Given the description of an element on the screen output the (x, y) to click on. 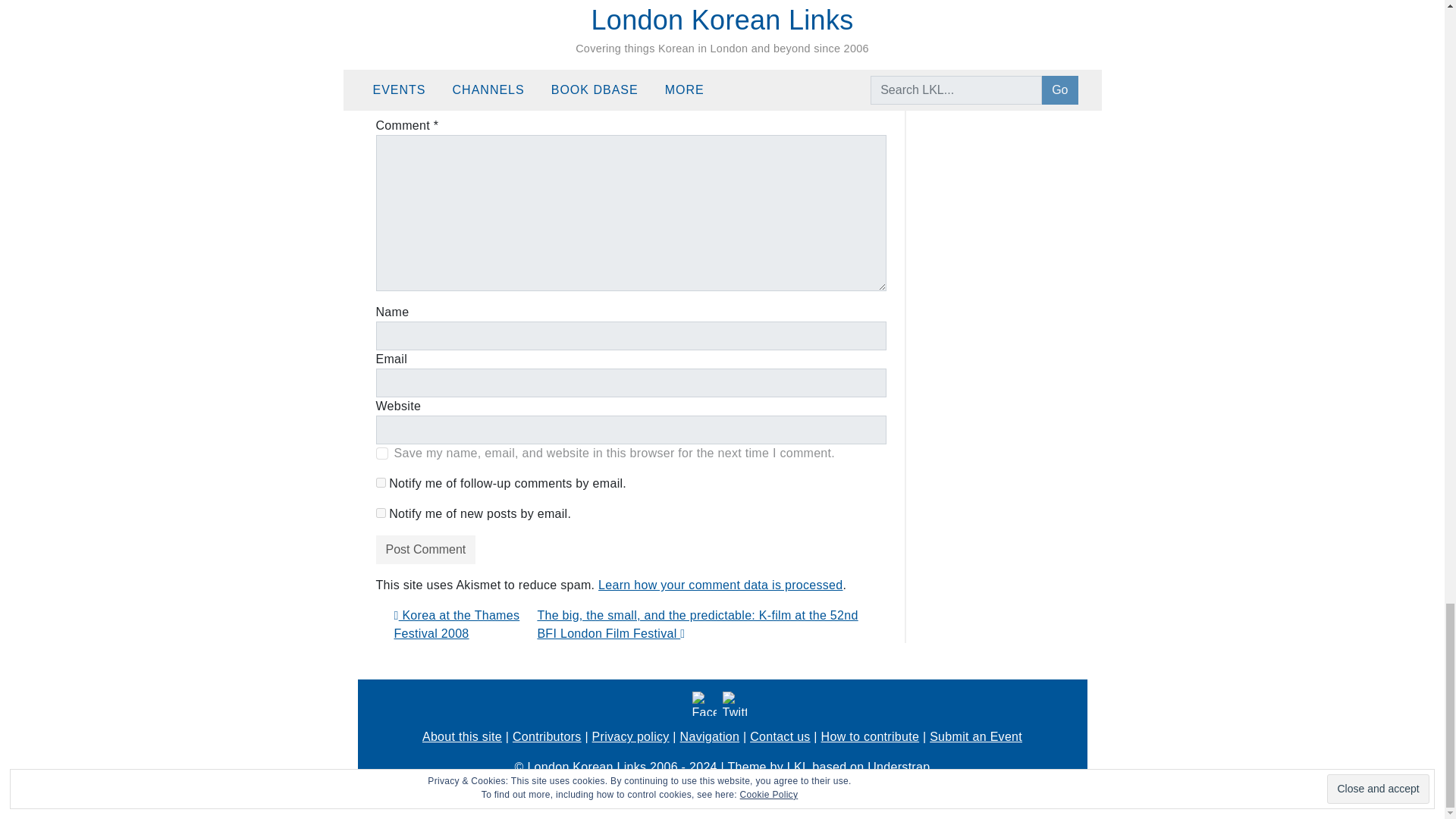
subscribe (380, 482)
Post Comment (425, 549)
yes (381, 453)
subscribe (380, 512)
